Given the description of an element on the screen output the (x, y) to click on. 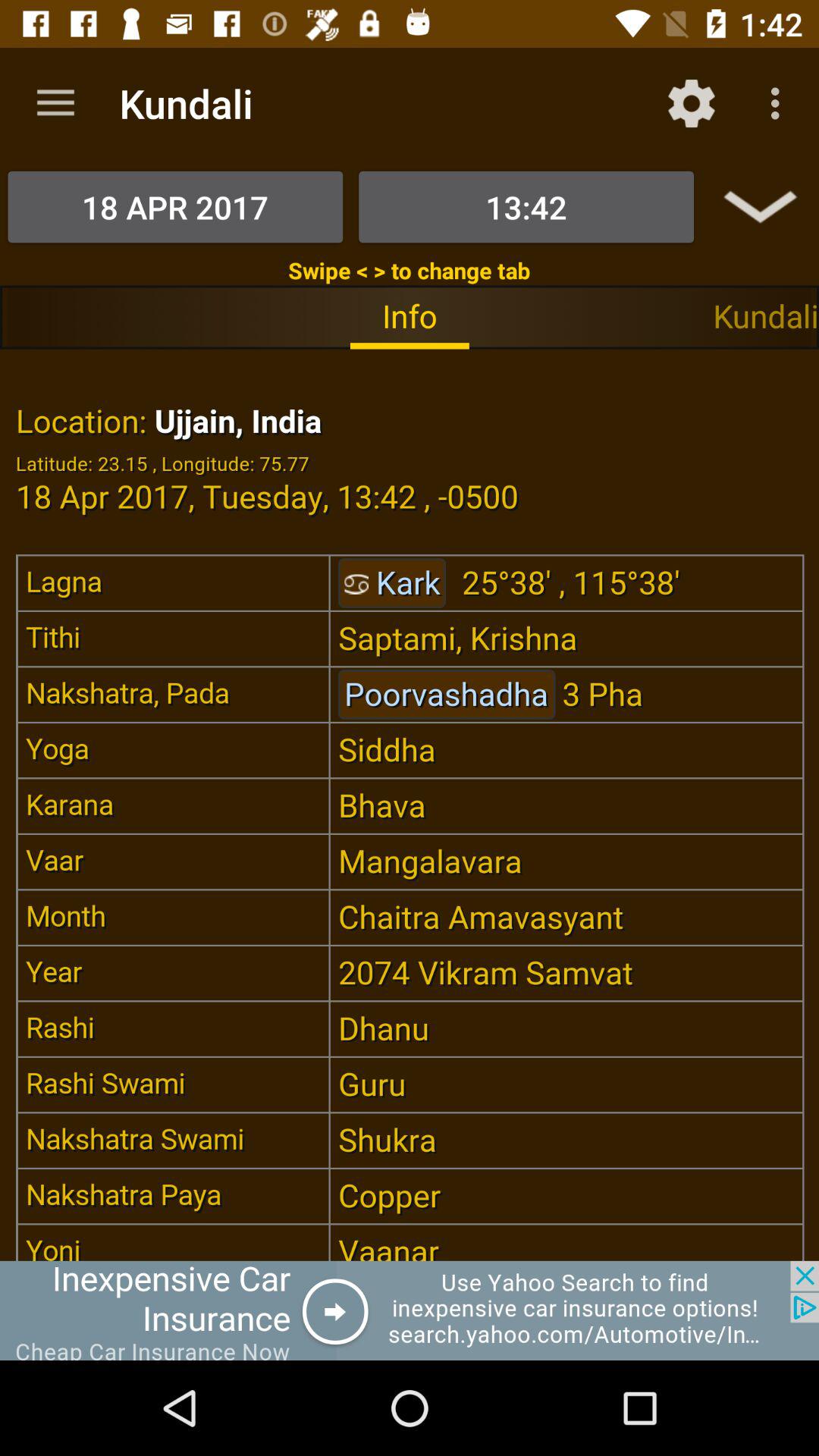
seeing in the paragraph (409, 804)
